Given the description of an element on the screen output the (x, y) to click on. 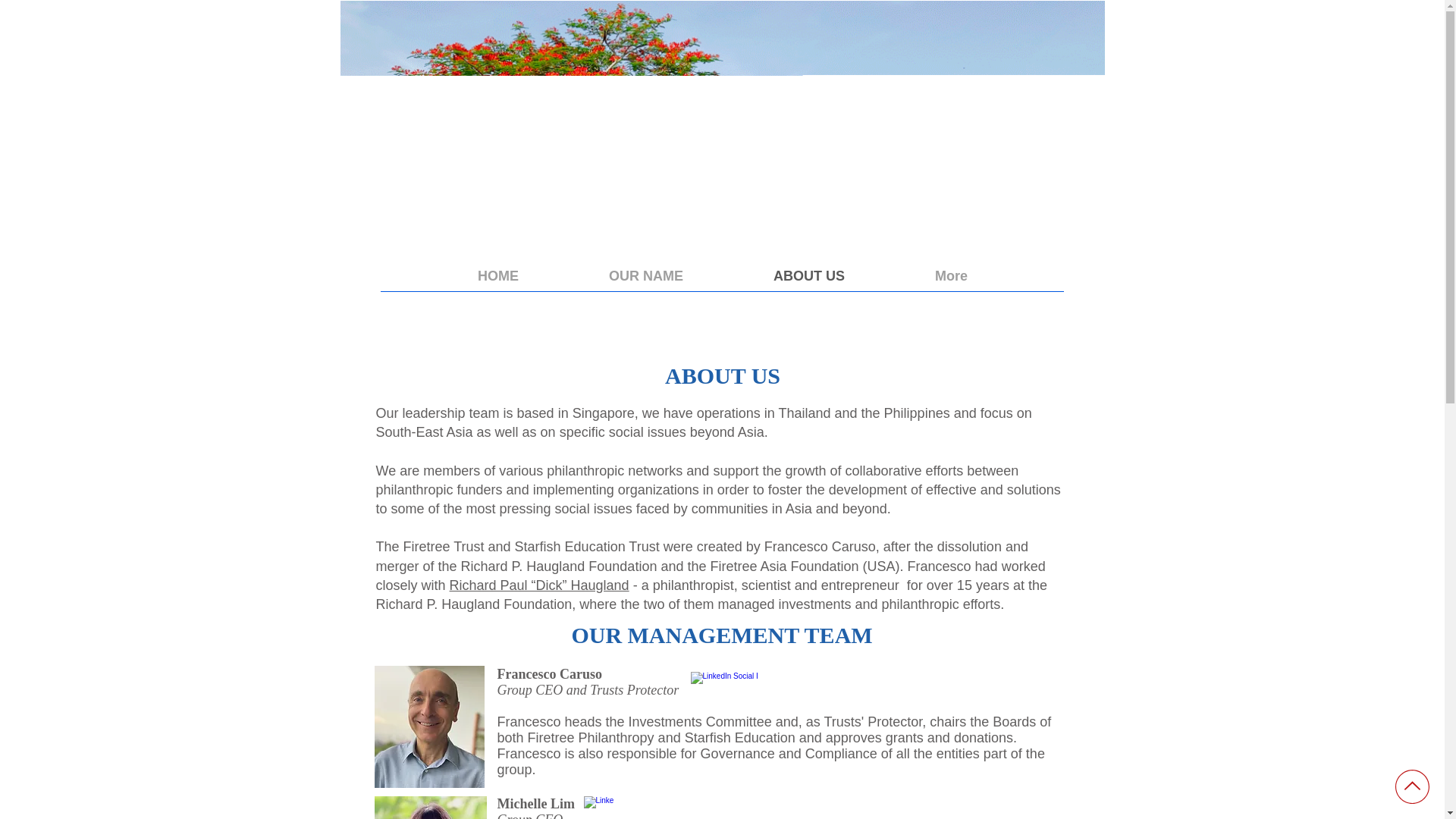
ABOUT US (808, 275)
HOME (497, 275)
OUR NAME (646, 275)
